Given the description of an element on the screen output the (x, y) to click on. 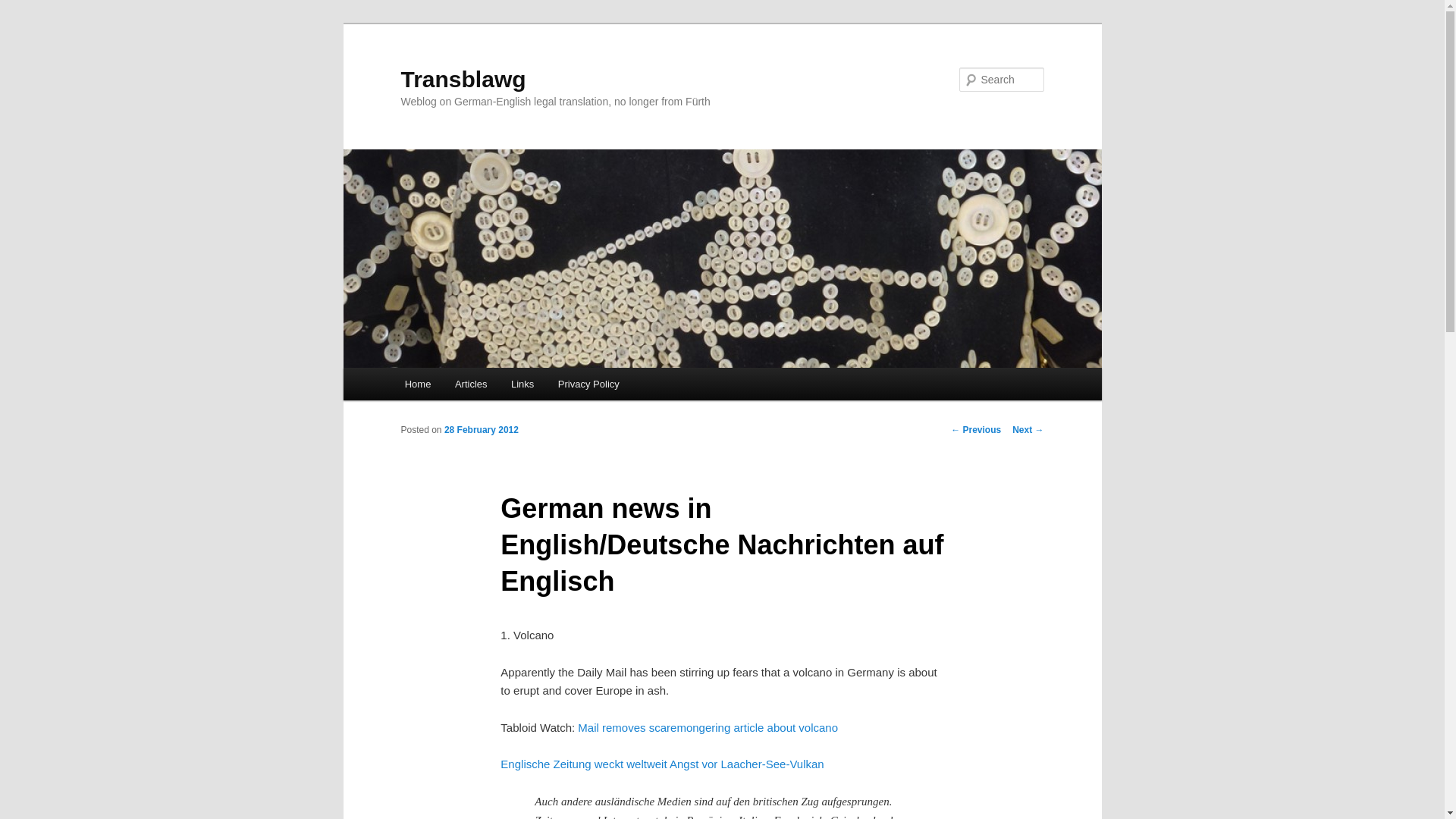
Links (522, 383)
Articles (470, 383)
Search (24, 8)
Privacy Policy (588, 383)
Home (417, 383)
28 February 2012 (481, 429)
Transblawg (462, 78)
Mail removes scaremongering article about volcano (708, 727)
